Given the description of an element on the screen output the (x, y) to click on. 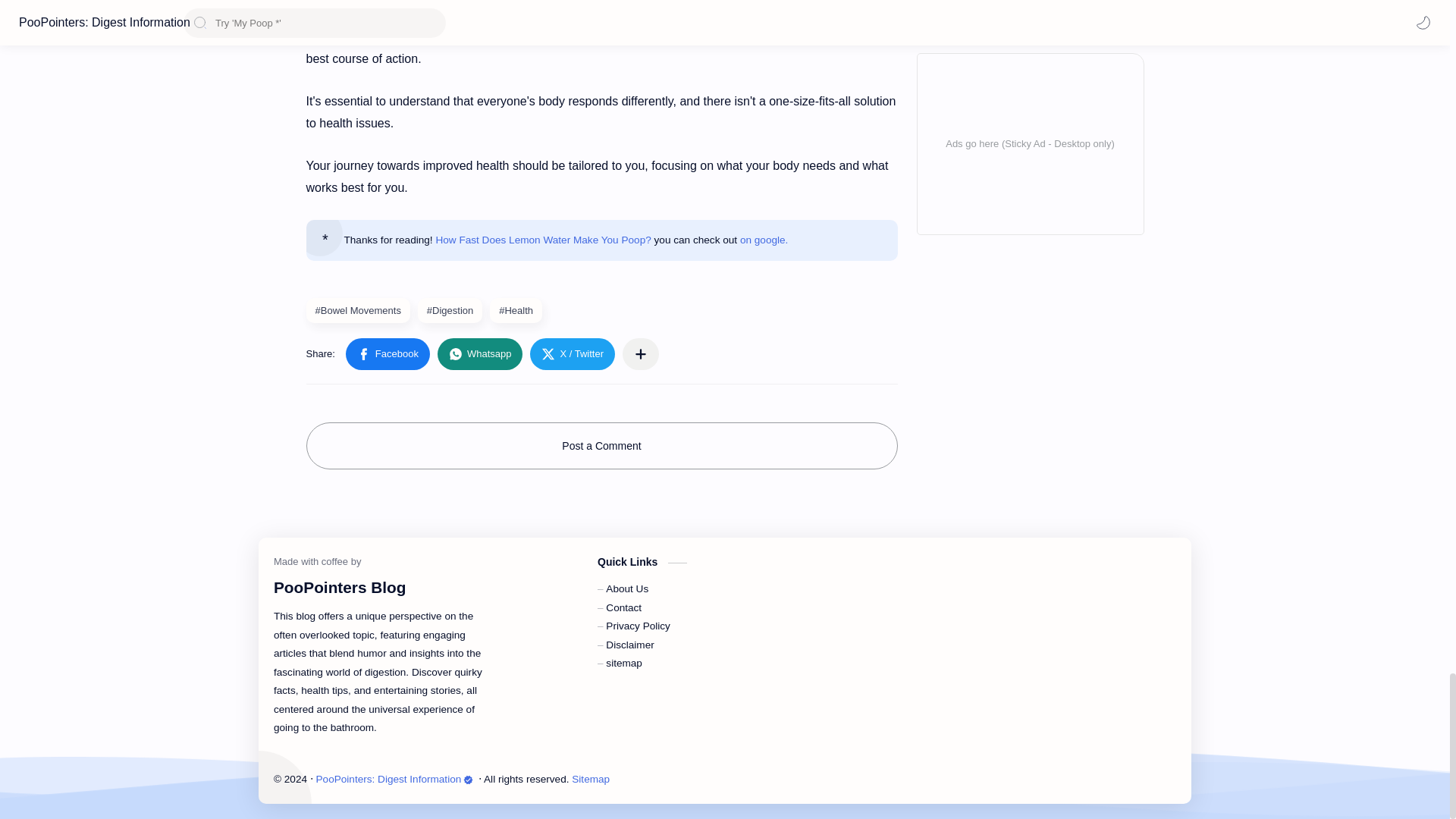
on google. (764, 239)
How Fast Does Lemon Water Make You Poop? (542, 239)
